Given the description of an element on the screen output the (x, y) to click on. 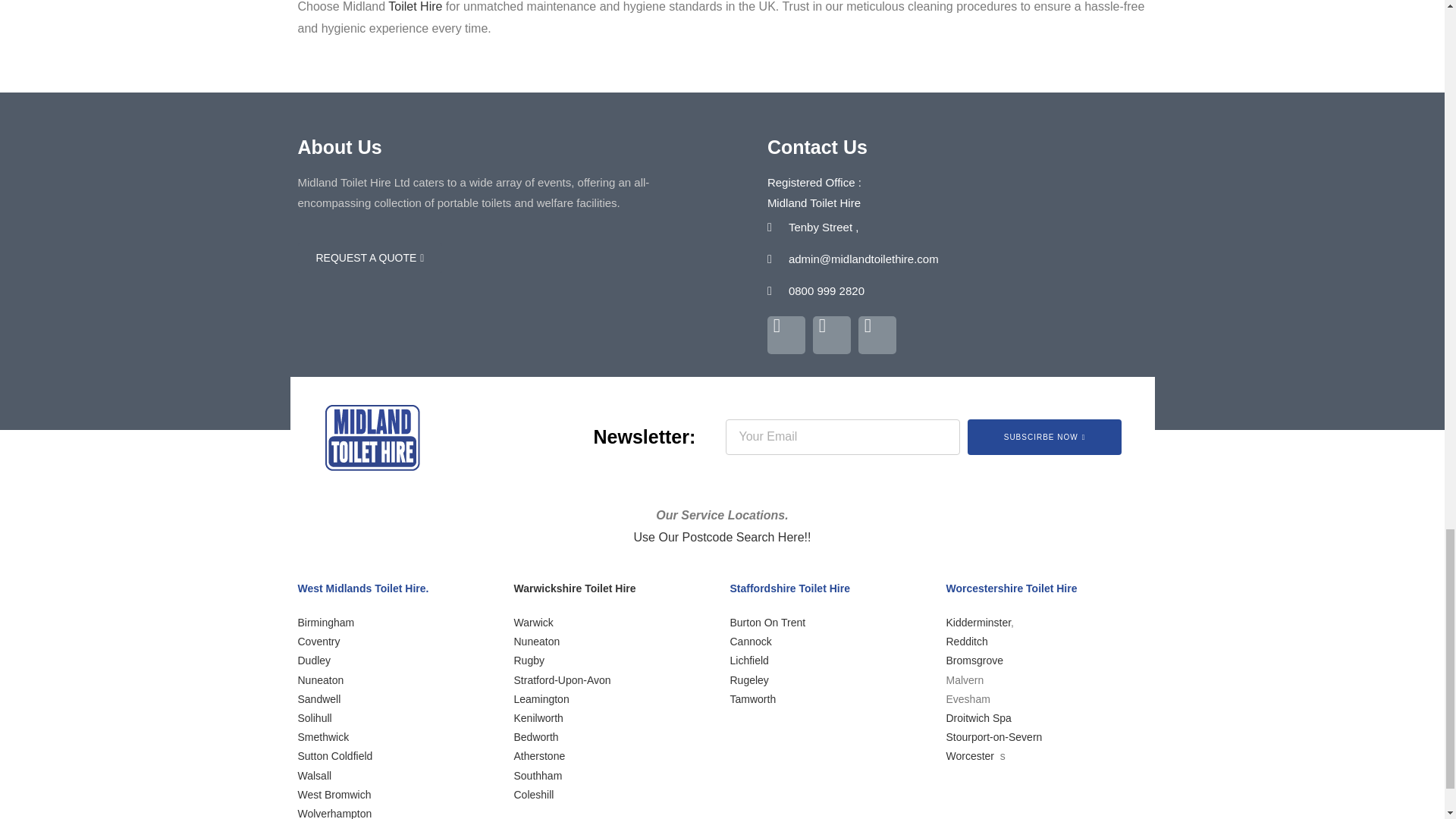
Toilet Hire (415, 6)
